Given the description of an element on the screen output the (x, y) to click on. 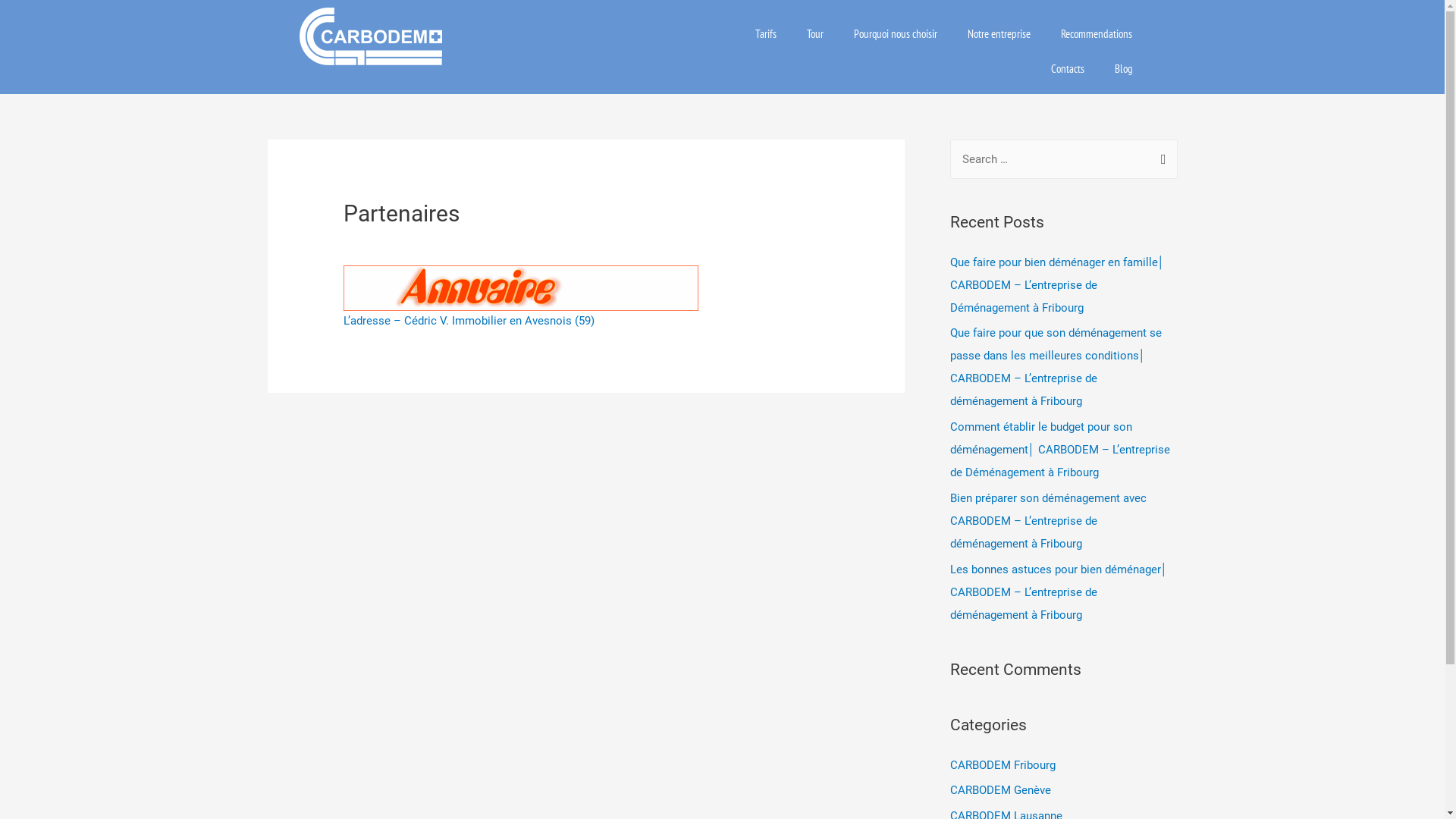
Blog Element type: text (1123, 68)
Pourquoi nous choisir Element type: text (895, 33)
Tarifs Element type: text (765, 33)
Tour Element type: text (814, 33)
Search Element type: text (1160, 159)
Notre entreprise Element type: text (998, 33)
Contacts Element type: text (1067, 68)
Recommendations Element type: text (1095, 33)
CARBODEM Fribourg Element type: text (1001, 764)
